Given the description of an element on the screen output the (x, y) to click on. 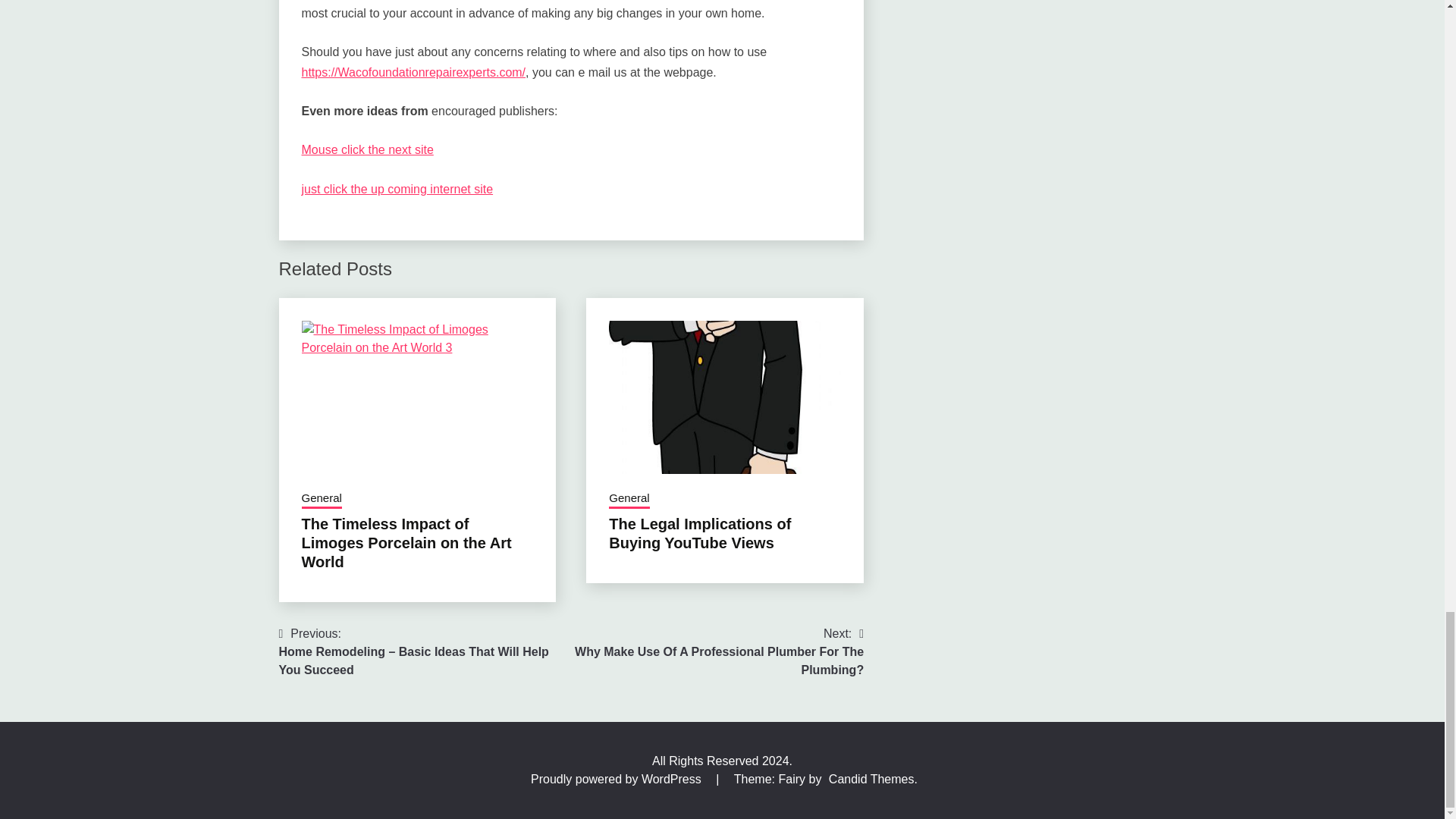
General (321, 499)
just click the up coming internet site (397, 188)
The Timeless Impact of Limoges Porcelain on the Art World (406, 542)
The Legal Implications of Buying YouTube Views (699, 533)
Mouse click the next site (367, 149)
General (628, 499)
